Given the description of an element on the screen output the (x, y) to click on. 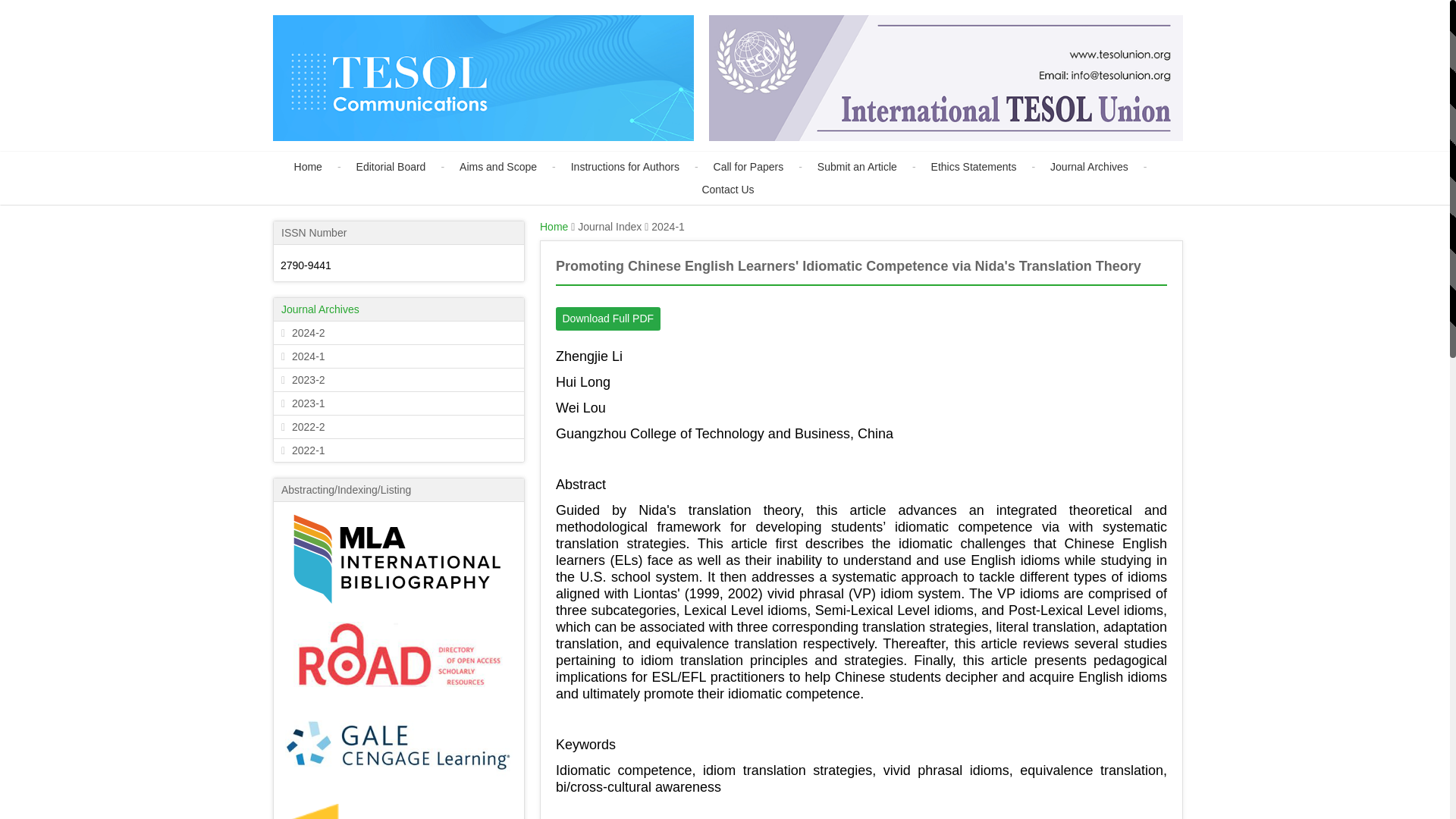
2023-1 (398, 403)
Editorial Board (408, 166)
2024-1 (398, 355)
Journal Archives (1105, 166)
Call for Papers (764, 166)
2023-2 (398, 379)
Contact Us (727, 189)
Submit an Article (873, 166)
Instructions for Authors (641, 166)
Home (325, 166)
2022-1 (398, 449)
Download Full PDF (608, 318)
Home (553, 226)
Journal Archives (320, 309)
2024-2 (398, 332)
